Given the description of an element on the screen output the (x, y) to click on. 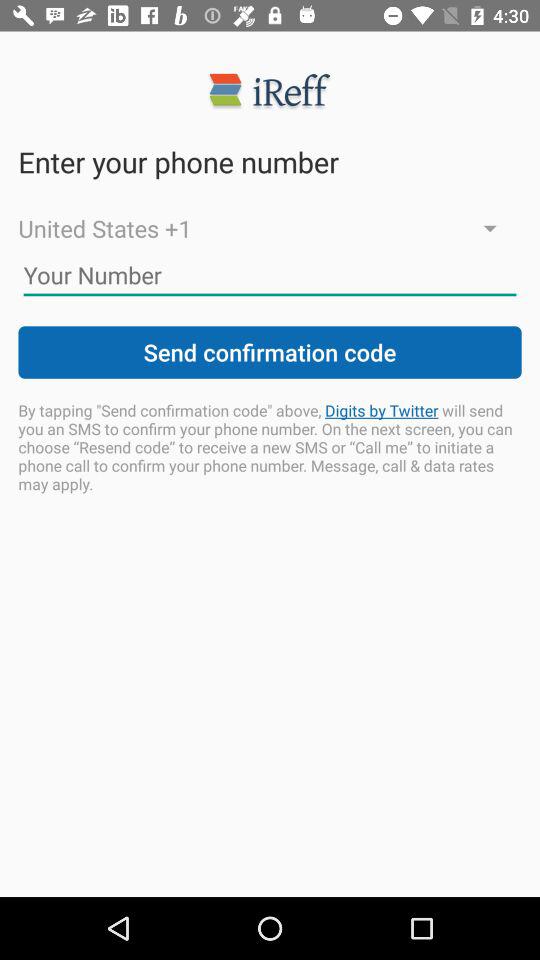
jump to united states +1 (269, 228)
